Given the description of an element on the screen output the (x, y) to click on. 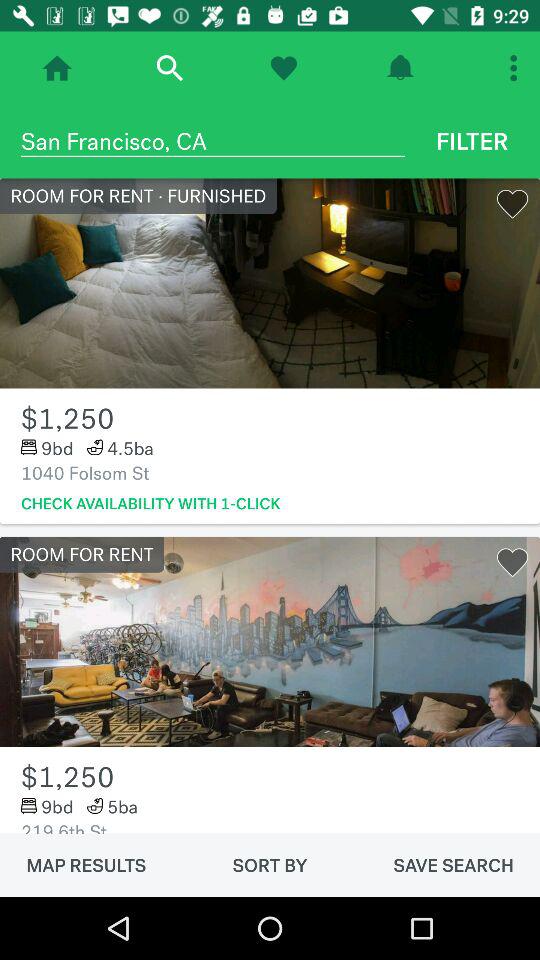
follow page (283, 68)
